Given the description of an element on the screen output the (x, y) to click on. 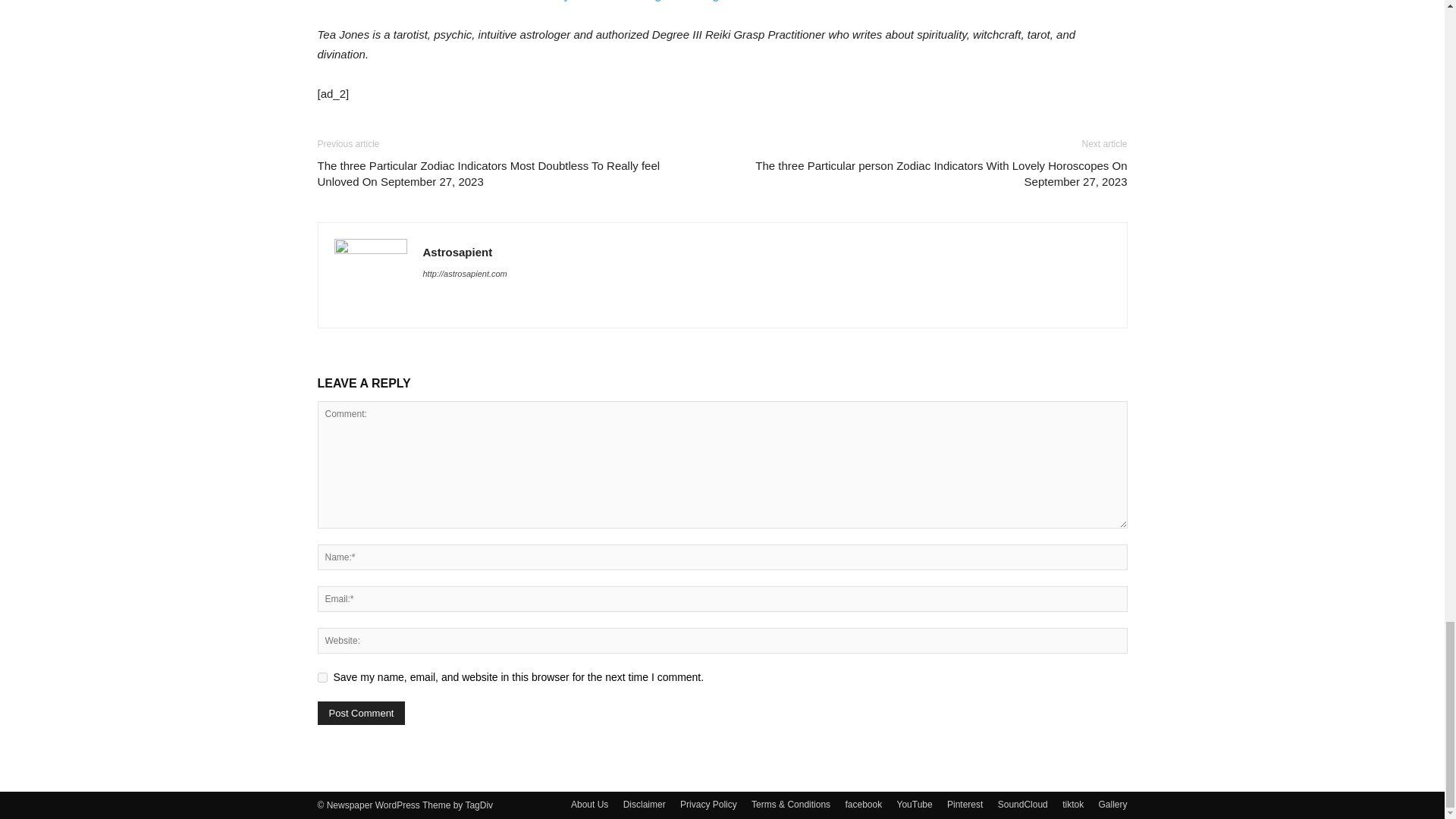
About Us (589, 804)
facebook (863, 804)
Disclaimer (644, 804)
yes (321, 677)
Post Comment (360, 712)
Post Comment (360, 712)
Privacy Policy (707, 804)
Astrosapient (458, 251)
